Given the description of an element on the screen output the (x, y) to click on. 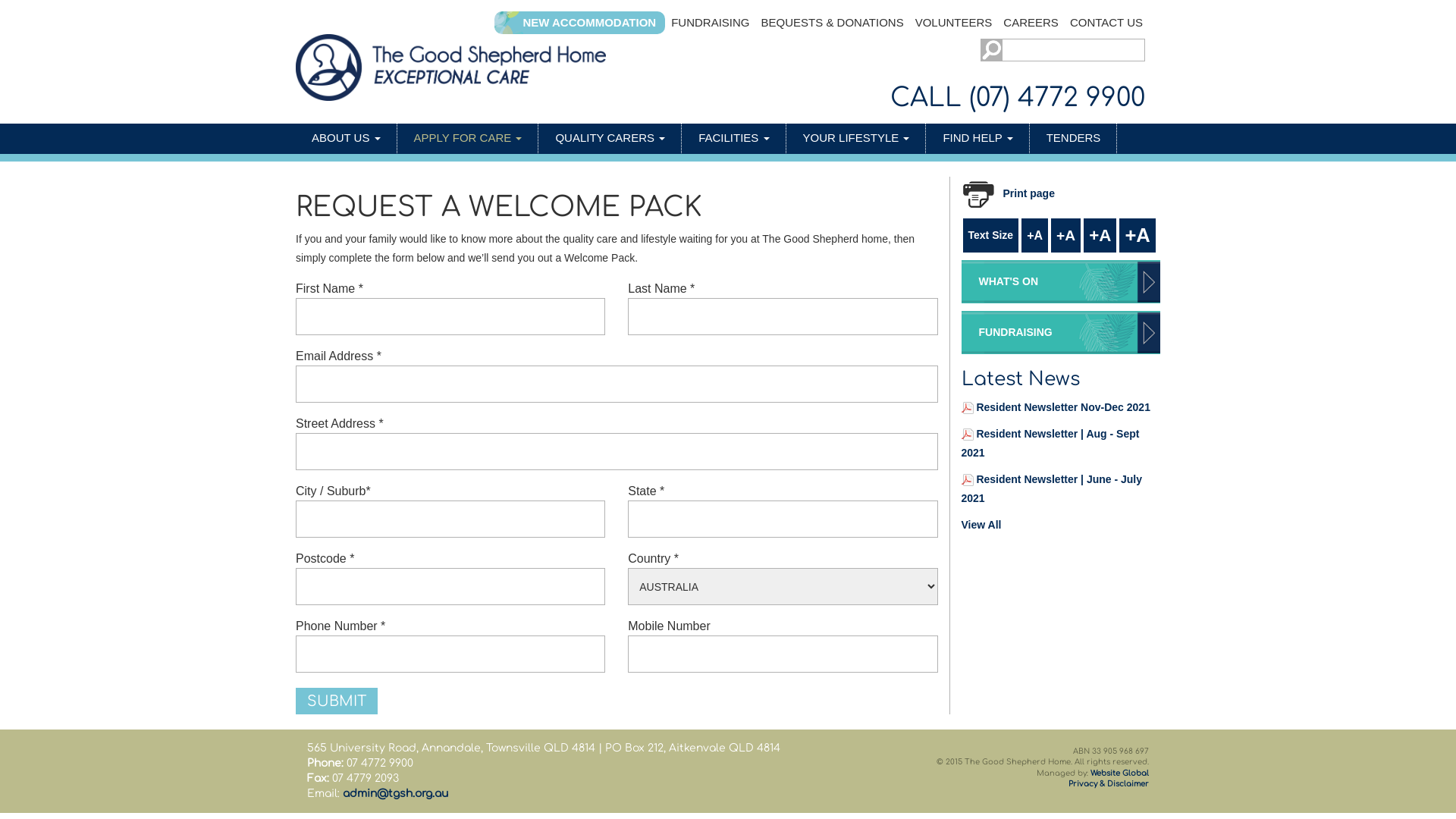
+A Element type: text (1136, 235)
View All Element type: text (981, 524)
FUNDRAISING Element type: text (1061, 332)
+A Element type: text (1099, 235)
VOLUNTEERS Element type: text (953, 22)
ABOUT US Element type: text (346, 138)
Resident Newsletter | June - July 2021 Element type: text (1051, 488)
BEQUESTS & DONATIONS Element type: text (832, 22)
admin@tgsh.org.au Element type: text (395, 793)
Submit Element type: text (336, 700)
QUALITY CARERS Element type: text (610, 138)
CAREERS Element type: text (1030, 22)
Text Size Element type: text (991, 235)
APPLY FOR CARE Element type: text (468, 138)
TENDERS Element type: text (1073, 138)
Privacy & Disclaimer Element type: text (1108, 783)
FACILITIES Element type: text (733, 138)
Website Global Element type: text (1119, 772)
CONTACT US Element type: text (1106, 22)
NEW ACCOMMODATION Element type: text (589, 22)
+A Element type: text (1034, 235)
YOUR LIFESTYLE Element type: text (856, 138)
Print page Element type: text (1013, 193)
Resident Newsletter | Aug - Sept 2021 Element type: text (1050, 442)
FUNDRAISING Element type: text (709, 22)
WHAT'S ON Element type: text (1061, 281)
FIND HELP Element type: text (977, 138)
+A Element type: text (1065, 235)
Resident Newsletter Nov-Dec 2021 Element type: text (1062, 407)
